Given the description of an element on the screen output the (x, y) to click on. 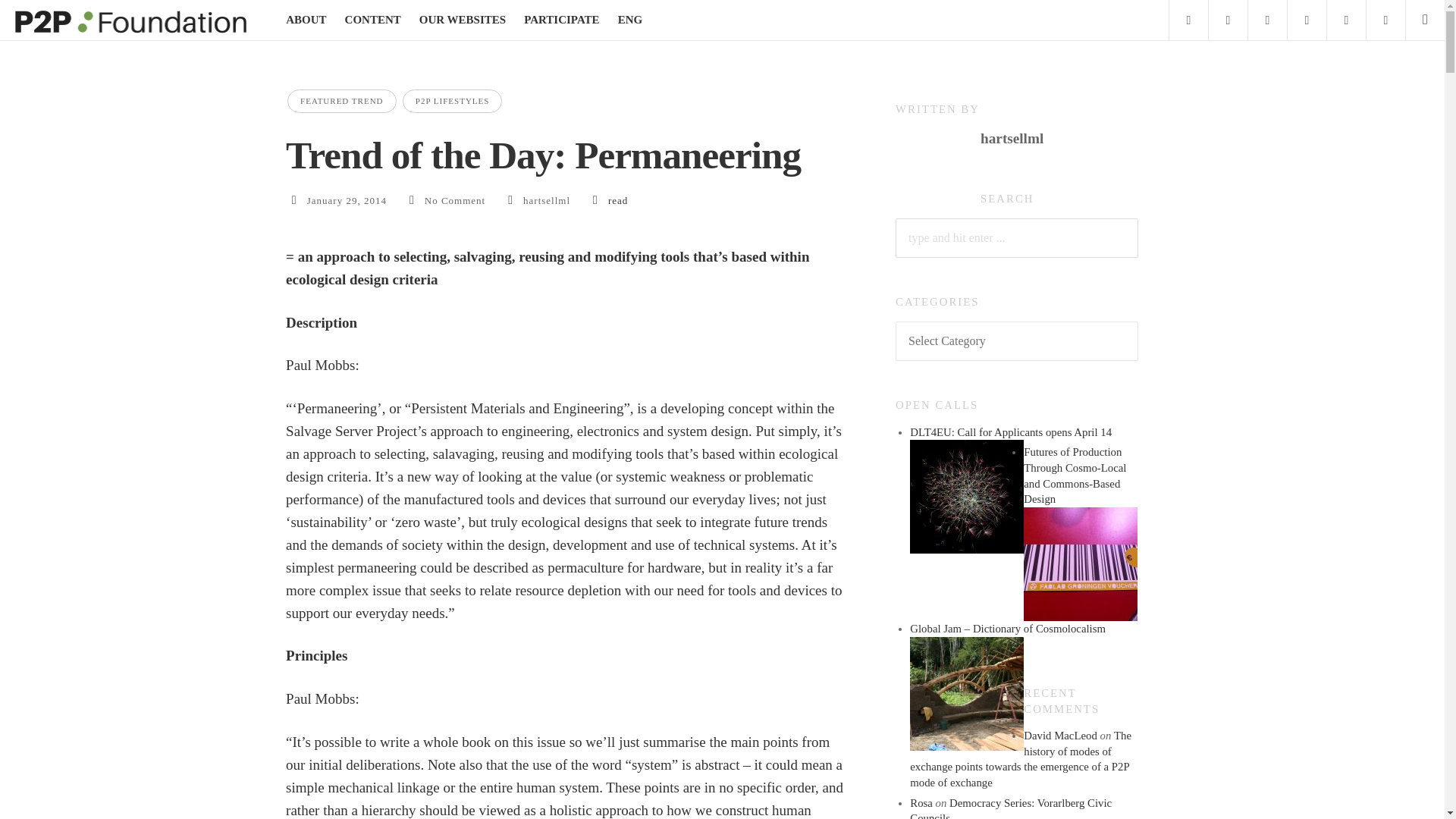
DLT4EU: Call for Applicants opens April 14 (966, 496)
PARTICIPATE (561, 20)
CONTENT (373, 20)
OUR WEBSITES (462, 20)
ABOUT (305, 20)
